Given the description of an element on the screen output the (x, y) to click on. 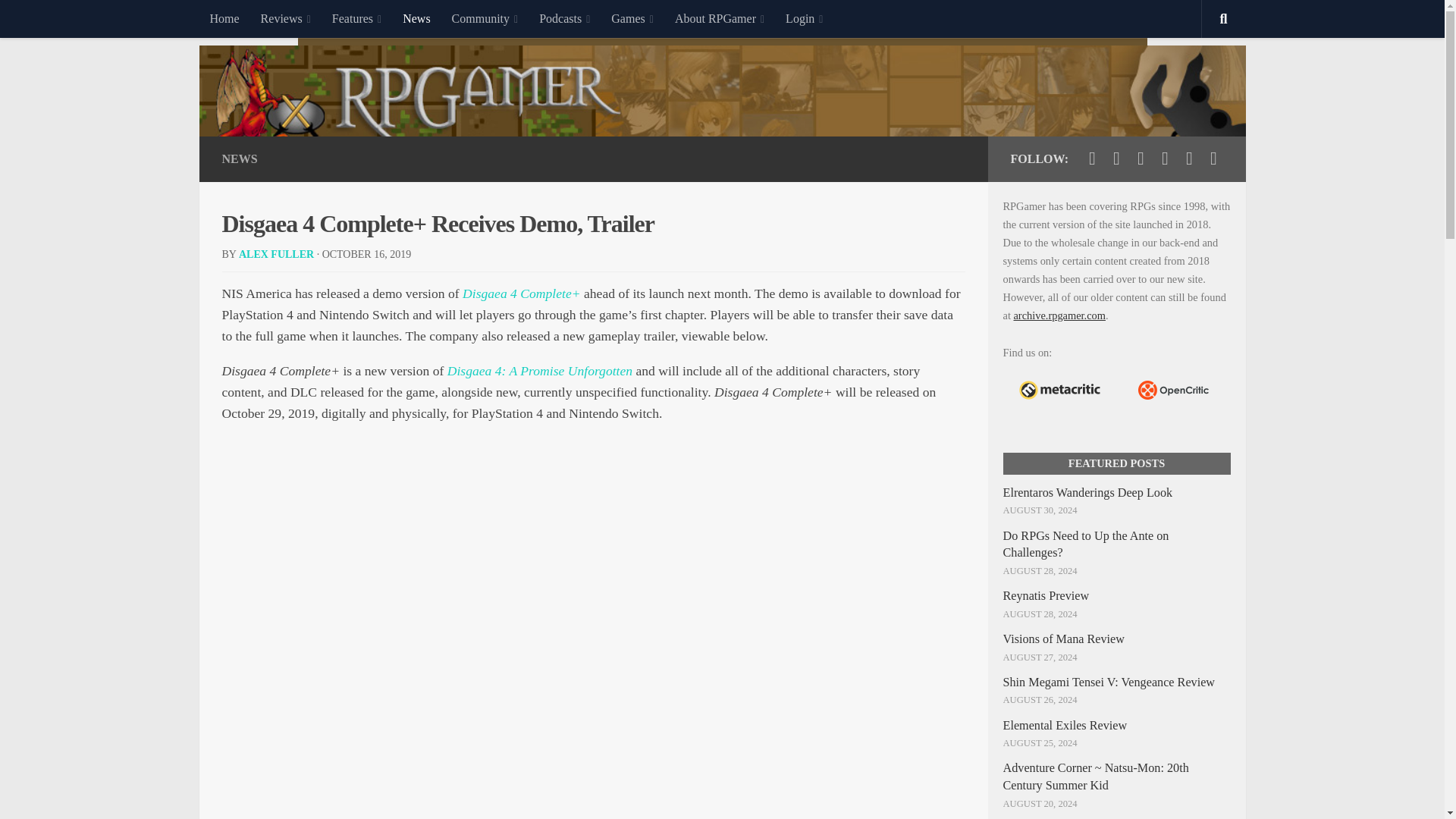
Follow us on Facebook (1115, 158)
Follow us on Twitch (1164, 158)
Follow us on Rss (1213, 158)
Posts by Alex Fuller (276, 254)
Follow us on Twitter (1091, 158)
Follow us on Youtube (1140, 158)
Skip to content (59, 20)
Follow us on Discord (1188, 158)
